Given the description of an element on the screen output the (x, y) to click on. 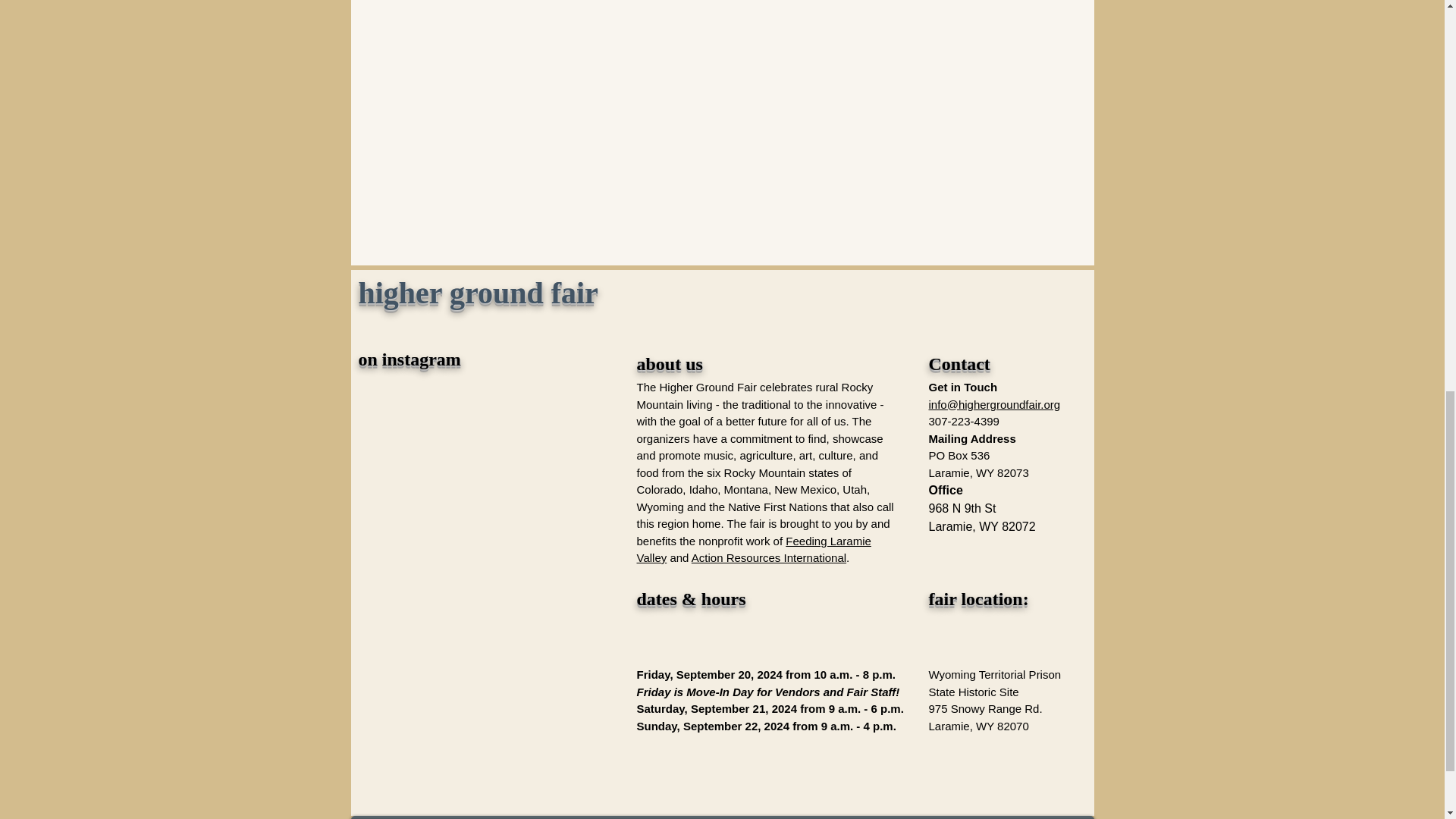
Action Resources International (768, 557)
higher ground fair (477, 292)
Feeding Laramie Valley (753, 548)
